Given the description of an element on the screen output the (x, y) to click on. 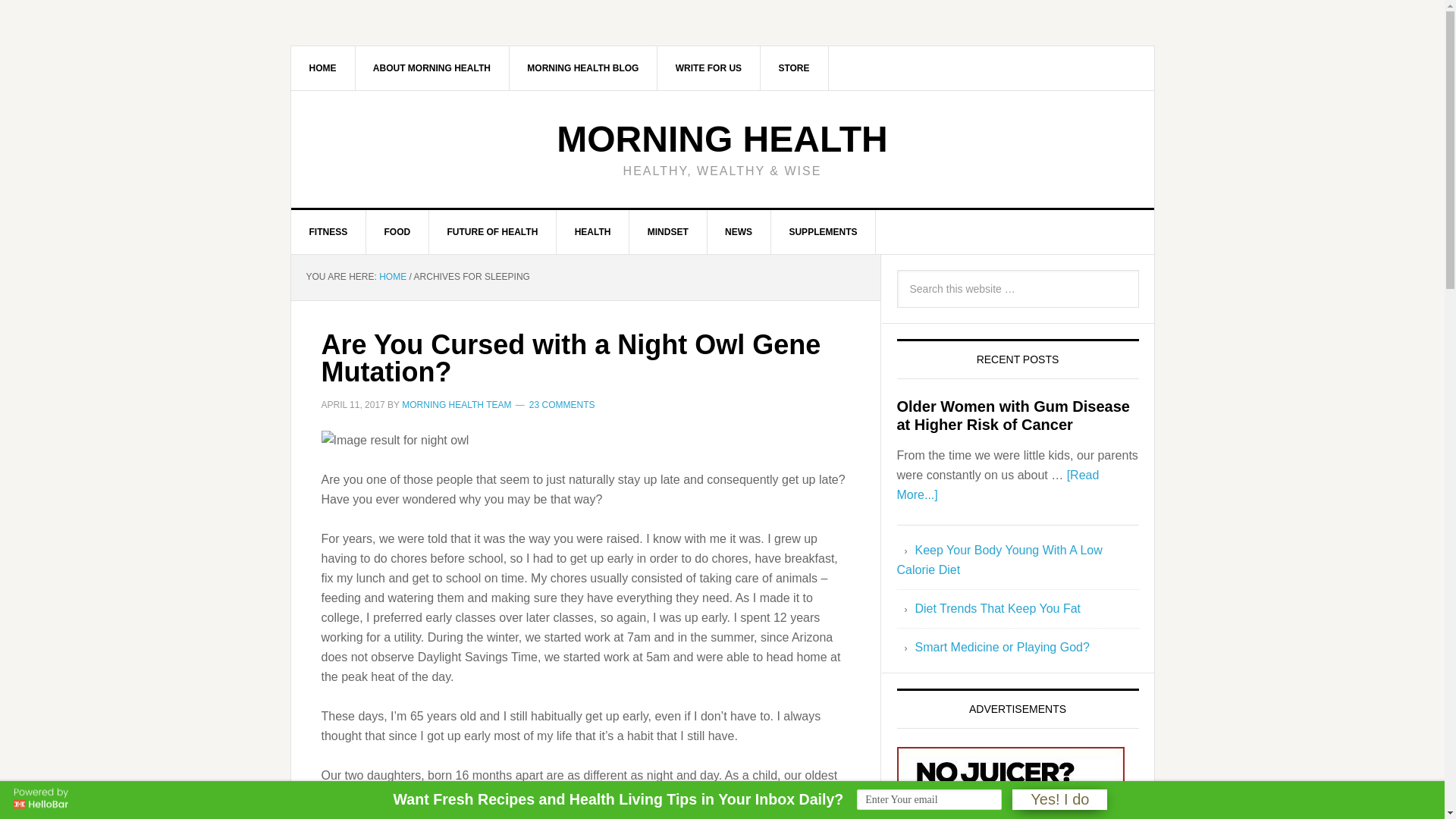
Keep Your Body Young With A Low Calorie Diet (999, 559)
Are You Cursed with a Night Owl Gene Mutation? (571, 358)
HOME (323, 67)
FITNESS (328, 231)
NEWS (738, 231)
FUTURE OF HEALTH (493, 231)
WRITE FOR US (709, 67)
Older Women with Gum Disease at Higher Risk of Cancer (1012, 415)
ABOUT MORNING HEALTH (432, 67)
View source image (394, 440)
MORNING HEALTH (721, 138)
SUPPLEMENTS (823, 231)
FOOD (397, 231)
MORNING HEALTH BLOG (583, 67)
